Given the description of an element on the screen output the (x, y) to click on. 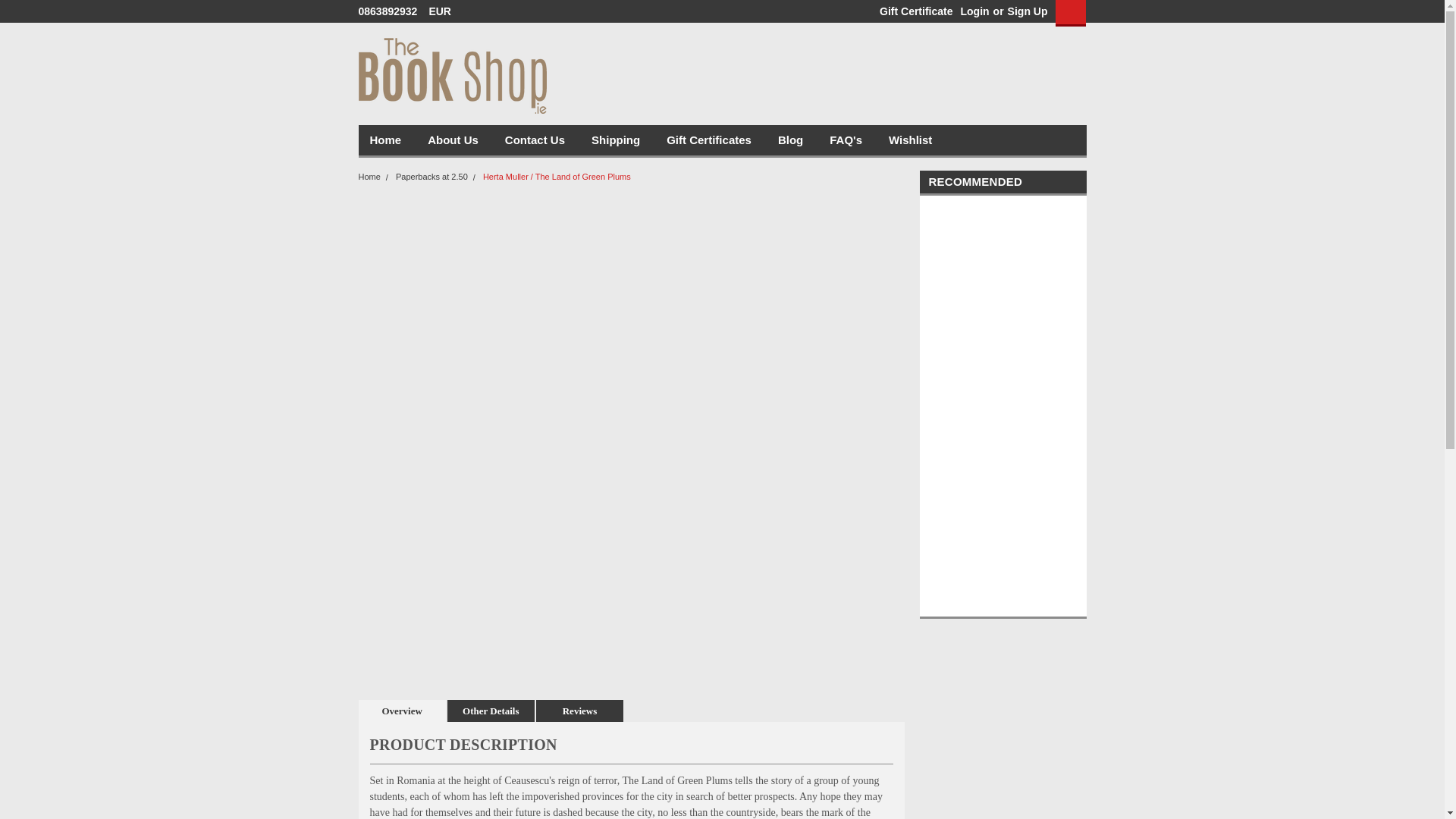
Sign Up (1026, 11)
Gift Certificate (912, 11)
TheBookshop.ie (452, 75)
Currency Selector (444, 11)
EUR (444, 11)
Login (973, 11)
